Given the description of an element on the screen output the (x, y) to click on. 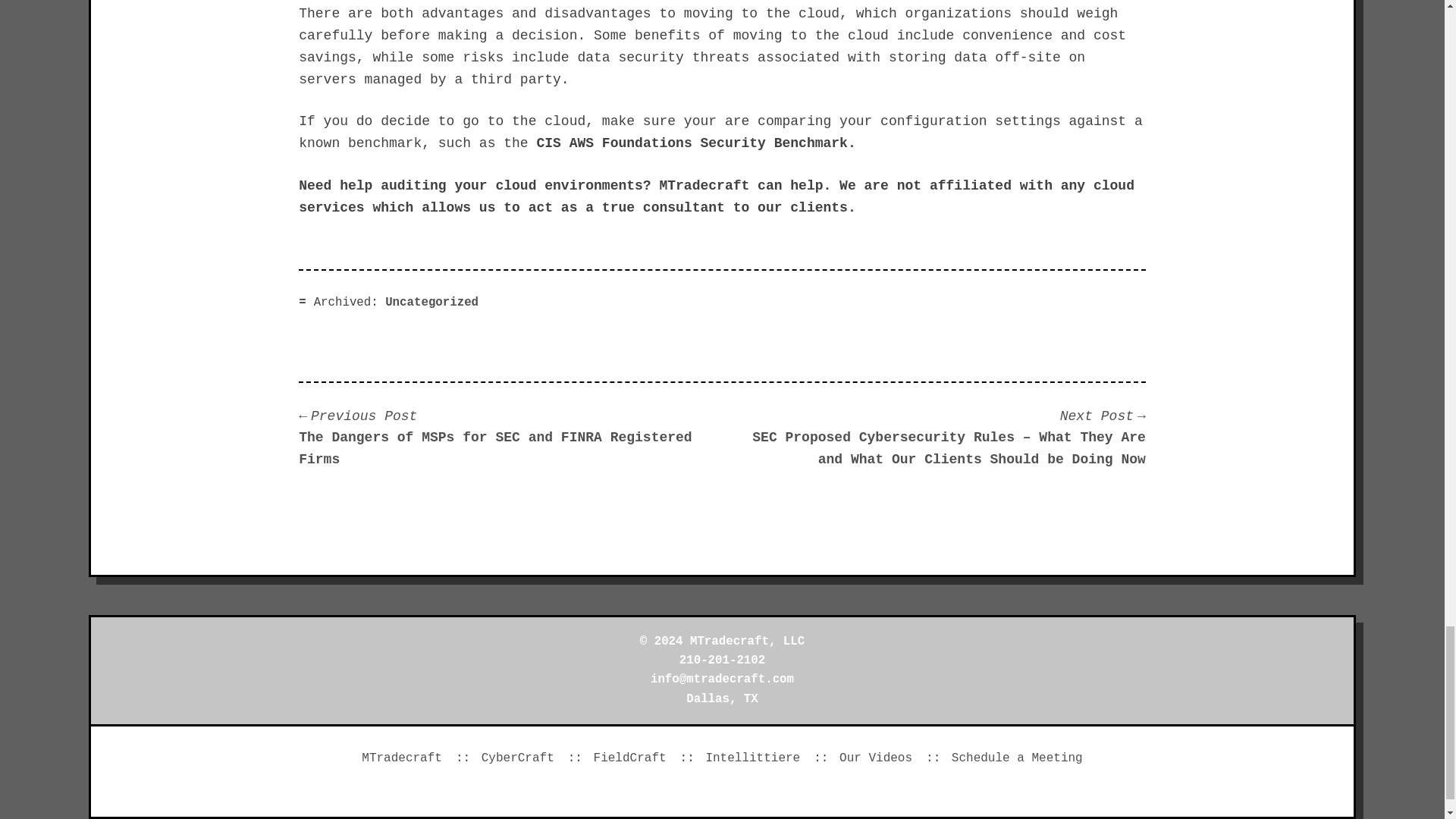
Uncategorized (432, 302)
Our Videos (876, 757)
MTradecraft (401, 757)
CyberCraft (517, 757)
FieldCraft (630, 757)
Schedule a Meeting (1017, 757)
Intellittiere (751, 757)
